Given the description of an element on the screen output the (x, y) to click on. 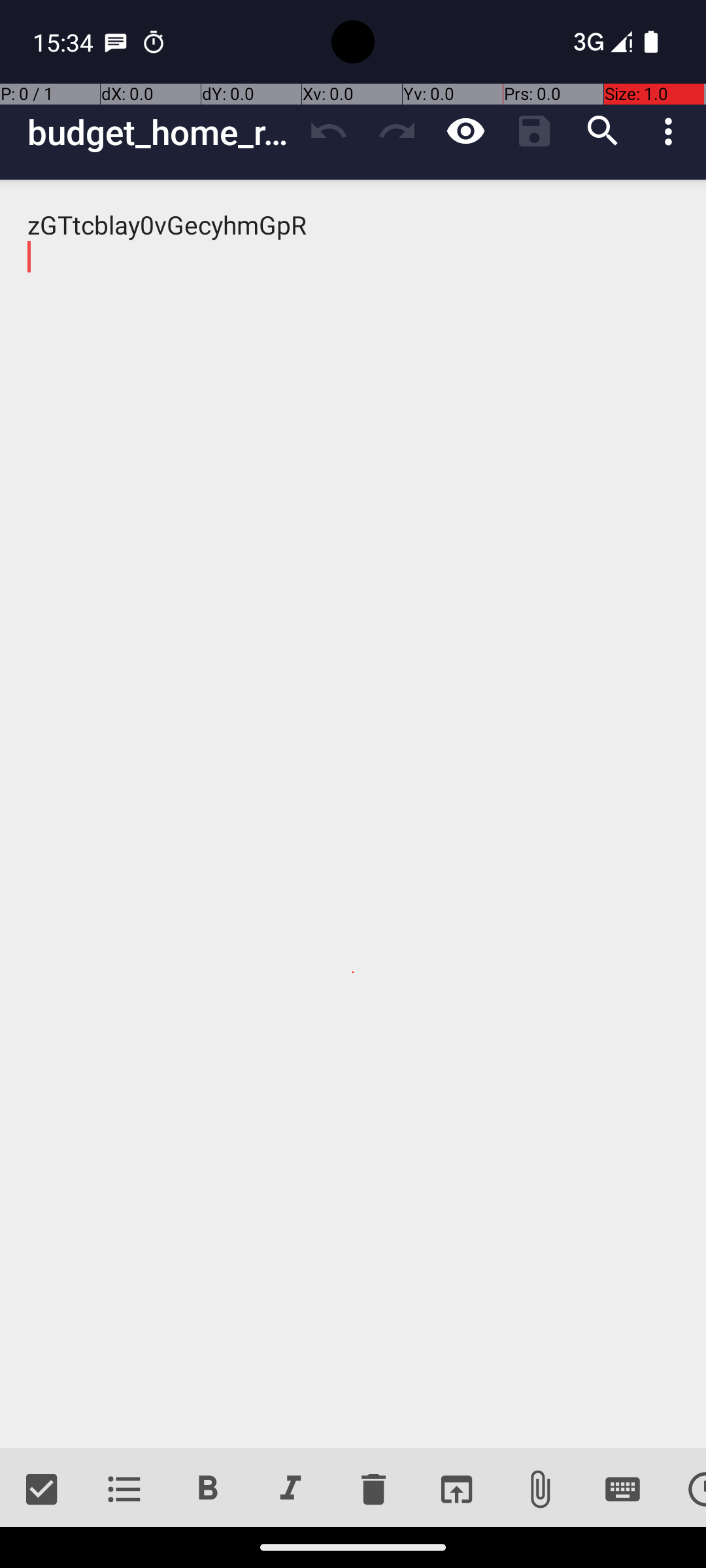
budget_home_renovation_2023_08_10 Element type: android.widget.TextView (160, 131)
zGTtcblay0vGecyhmGpR
 Element type: android.widget.EditText (353, 813)
